Given the description of an element on the screen output the (x, y) to click on. 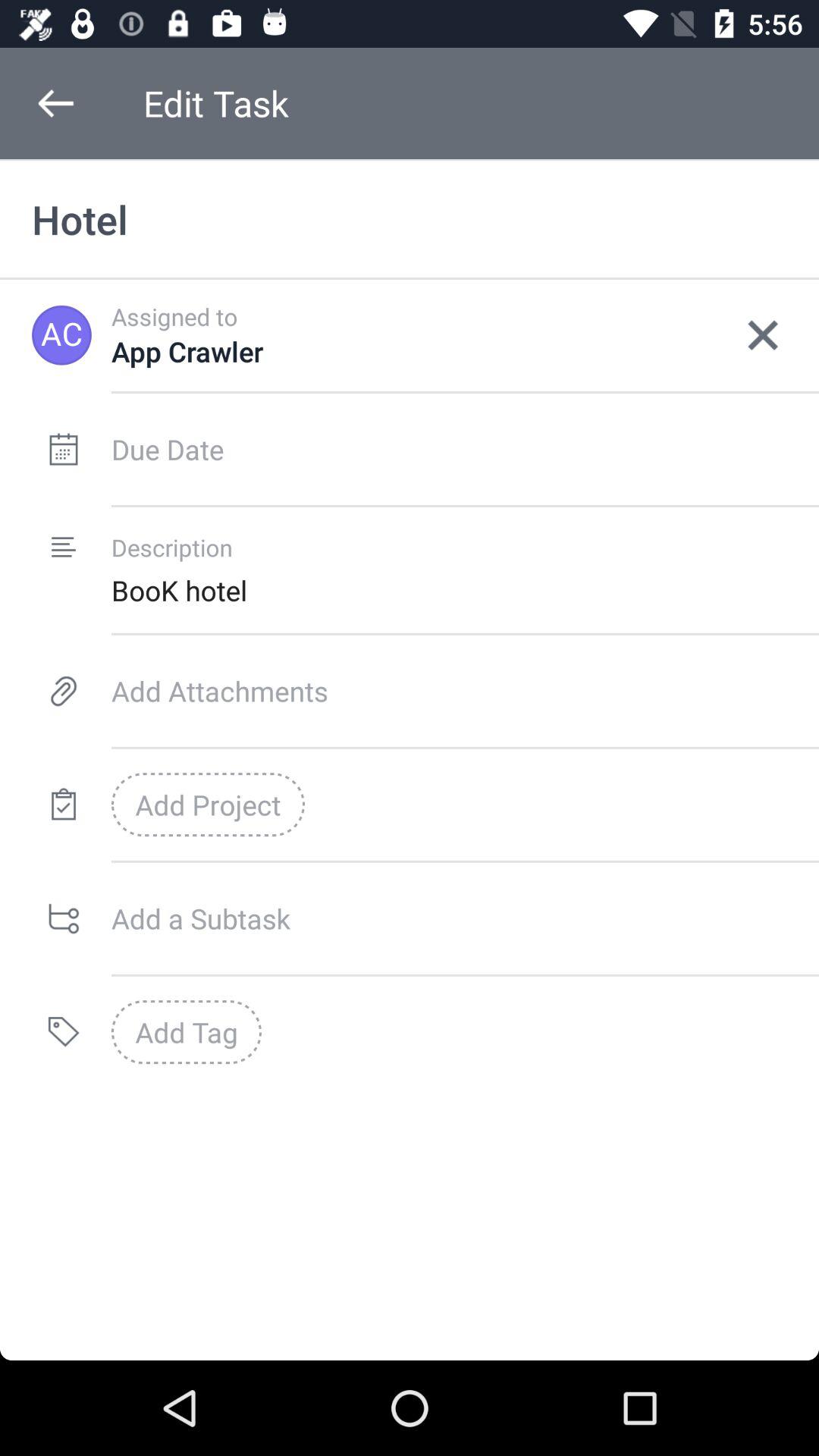
launch add project icon (207, 804)
